Given the description of an element on the screen output the (x, y) to click on. 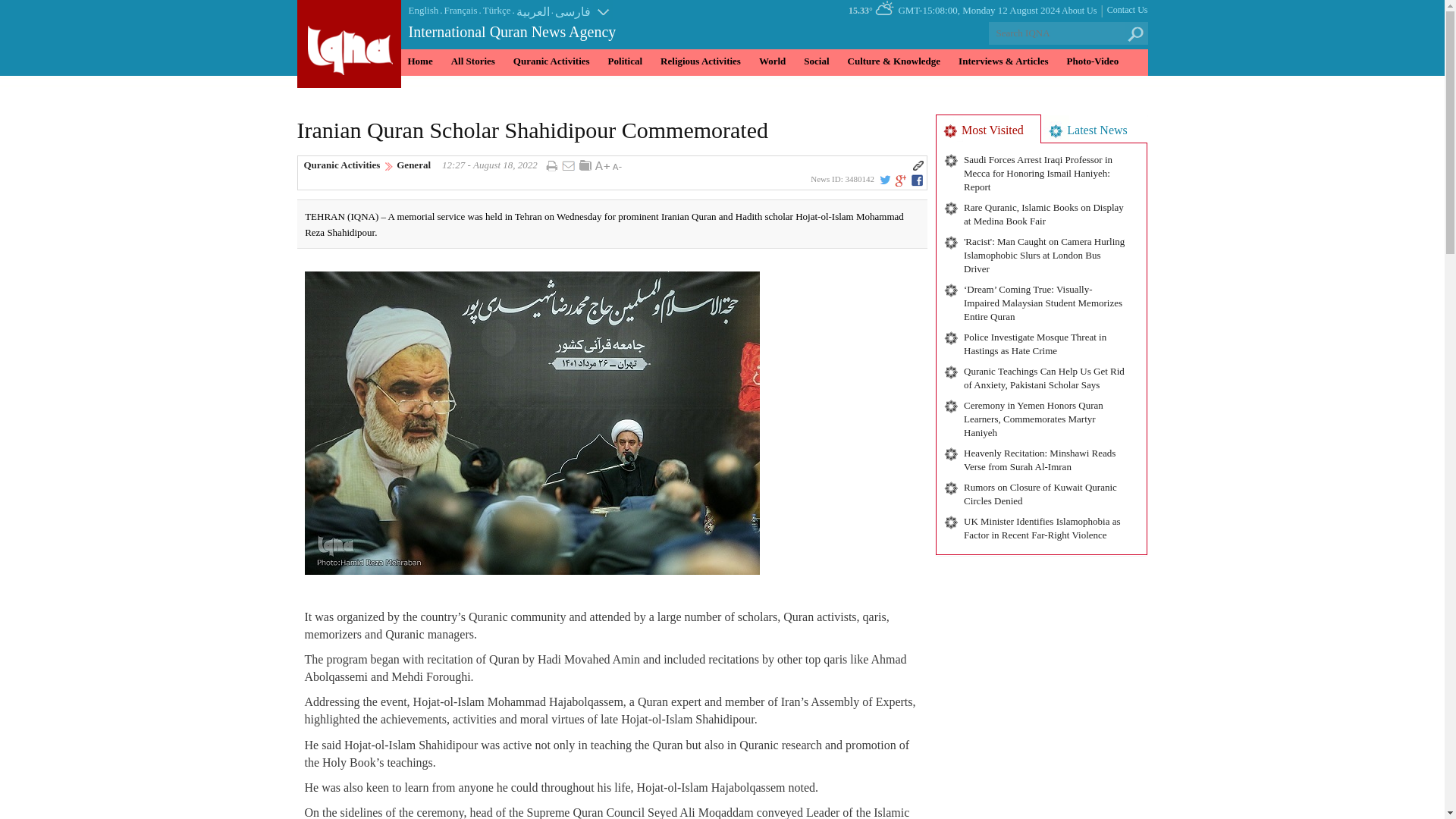
copy (917, 165)
All Stories (472, 62)
Police Investigate Mosque Threat in Hastings as Hate Crime (1040, 342)
English (422, 10)
Social (816, 62)
About Us (1078, 10)
